Given the description of an element on the screen output the (x, y) to click on. 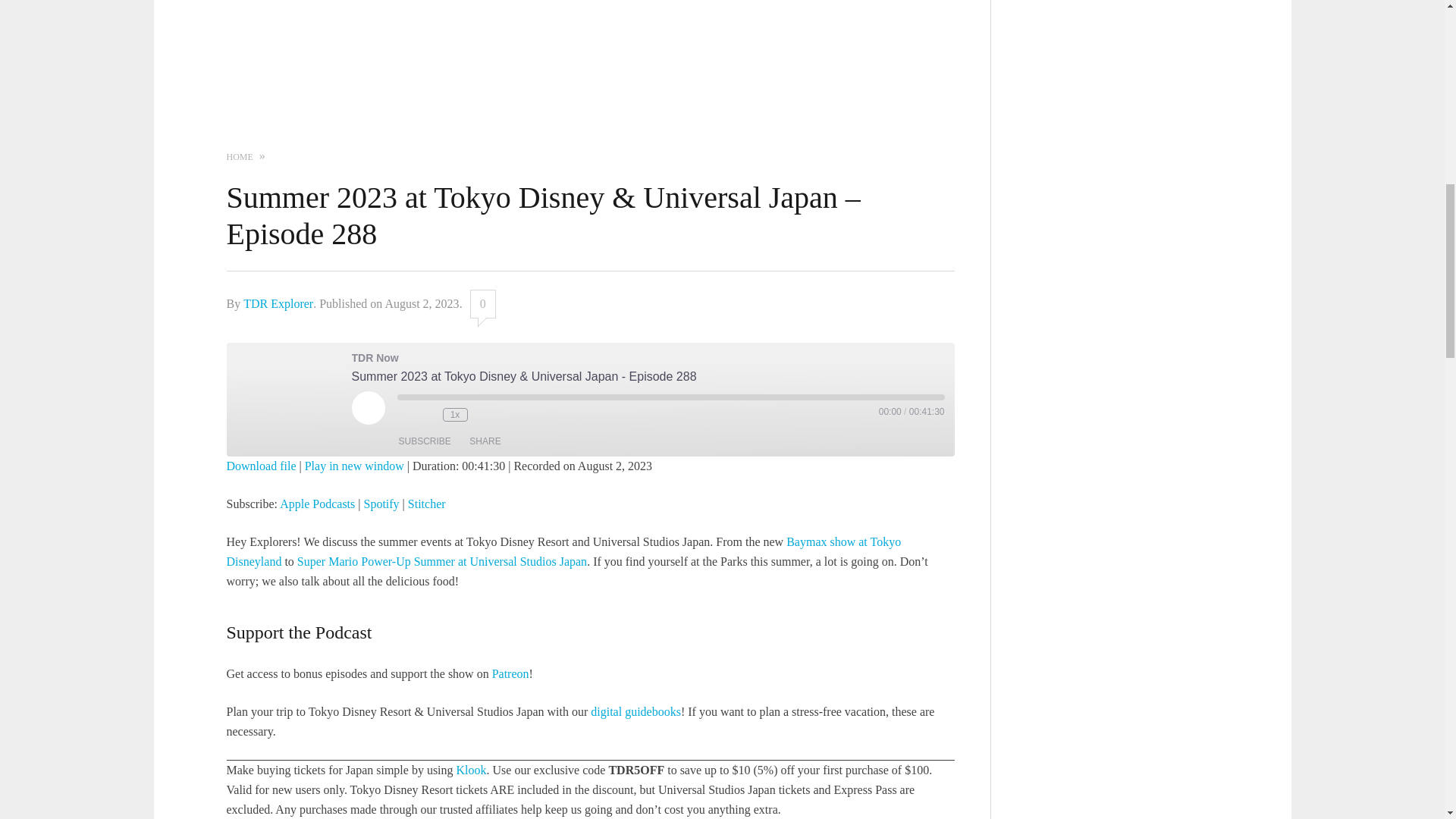
Rewind 10 seconds (427, 414)
Fast Forward 30 seconds (481, 414)
SHARE (484, 441)
Rewind 10 Seconds (427, 414)
SUBSCRIBE (424, 441)
0 (483, 303)
Play in new window (354, 465)
Play (368, 408)
Apple Podcasts (317, 503)
Posts by TDR Explorer (278, 303)
